Given the description of an element on the screen output the (x, y) to click on. 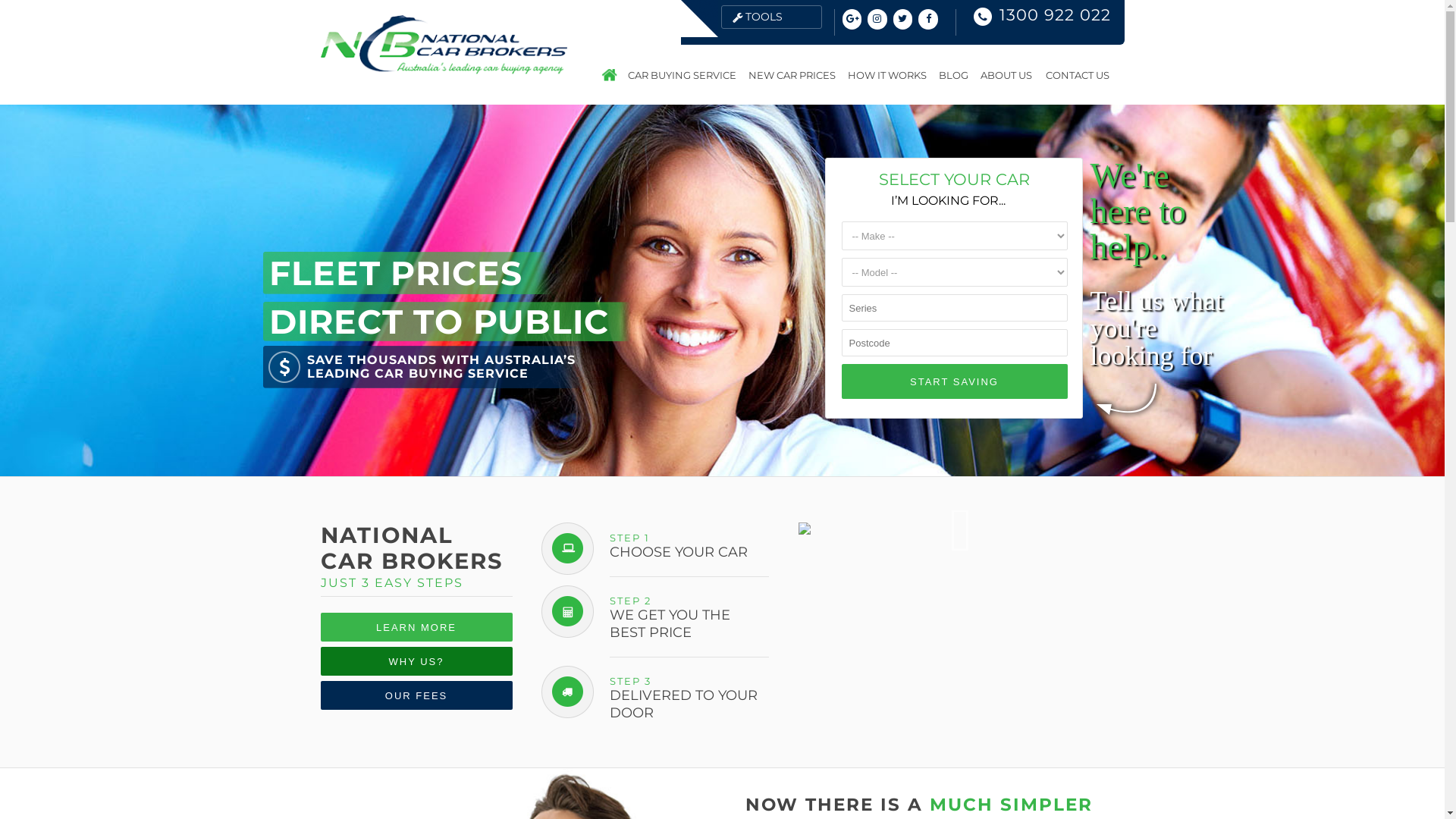
Google+ Element type: hover (851, 19)
HOW IT WORKS Element type: text (887, 75)
CONTACT US Element type: text (1073, 75)
WHY US? Element type: text (415, 660)
ABOUT US Element type: text (1005, 75)
OUR FEES Element type: text (415, 694)
Instagram Element type: hover (877, 19)
NEW CAR PRICES Element type: text (791, 75)
National Car Brokers Element type: hover (443, 69)
BLOG Element type: text (953, 75)
HOME Element type: text (609, 75)
CAR BUYING SERVICE Element type: text (681, 75)
Start saving Element type: text (954, 381)
1300 922 022 Element type: text (1054, 14)
Twitter Element type: hover (903, 19)
Facebook Element type: hover (928, 19)
LEARN MORE Element type: text (415, 626)
